Given the description of an element on the screen output the (x, y) to click on. 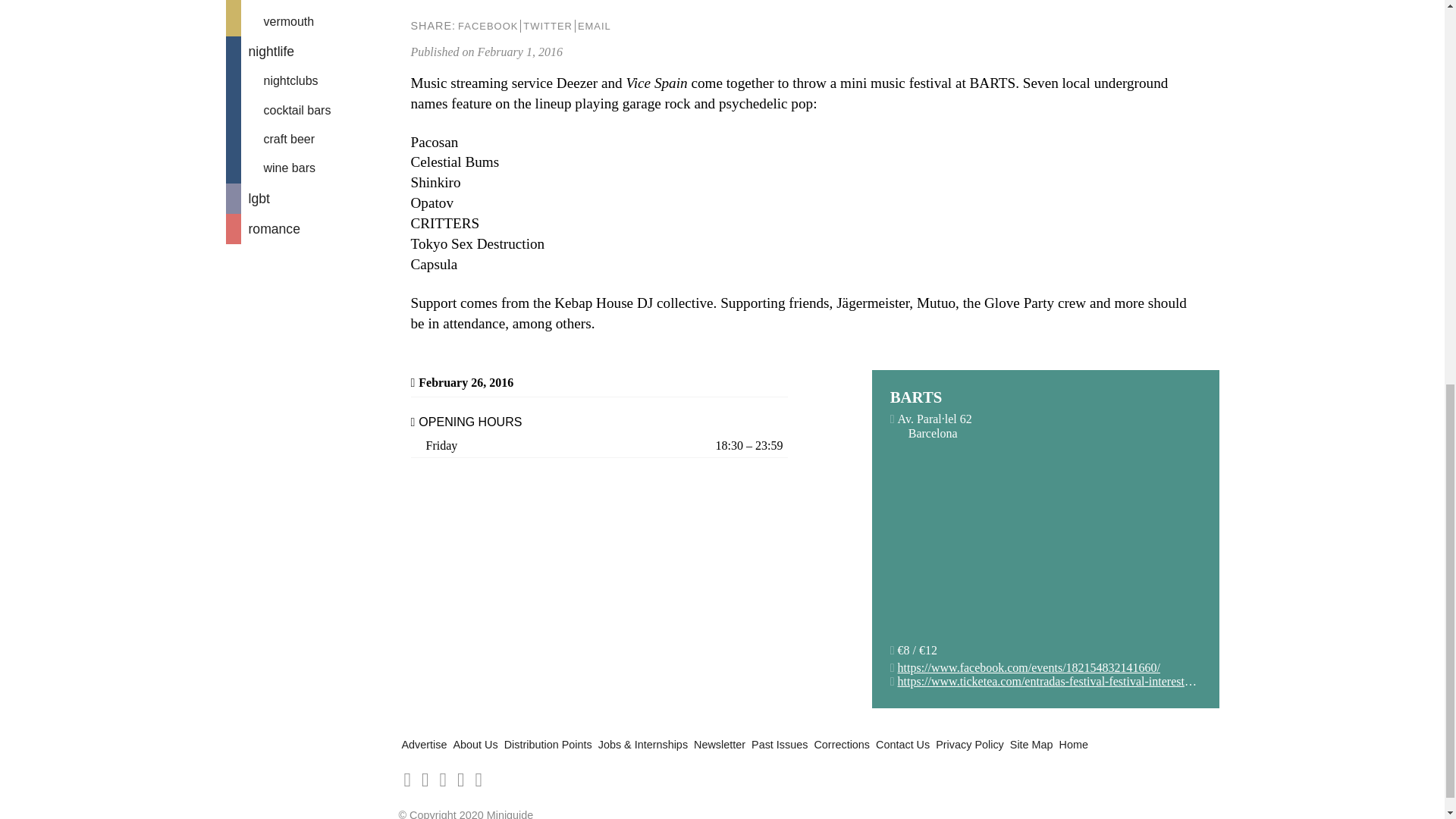
lgbt (309, 198)
EMAIL (593, 25)
Android app - Miniguide (424, 780)
nightlife (309, 51)
Instagram - Miniguide (477, 780)
wine bars (309, 167)
Facebook - Miniguide (442, 780)
iOS app - Miniguide (407, 780)
craft beer (309, 139)
cocktail bars (309, 110)
Newsletter (719, 744)
About Us (474, 744)
Twitter - Miniguide (459, 780)
nightclubs (309, 80)
Distribution Points (547, 744)
